Given the description of an element on the screen output the (x, y) to click on. 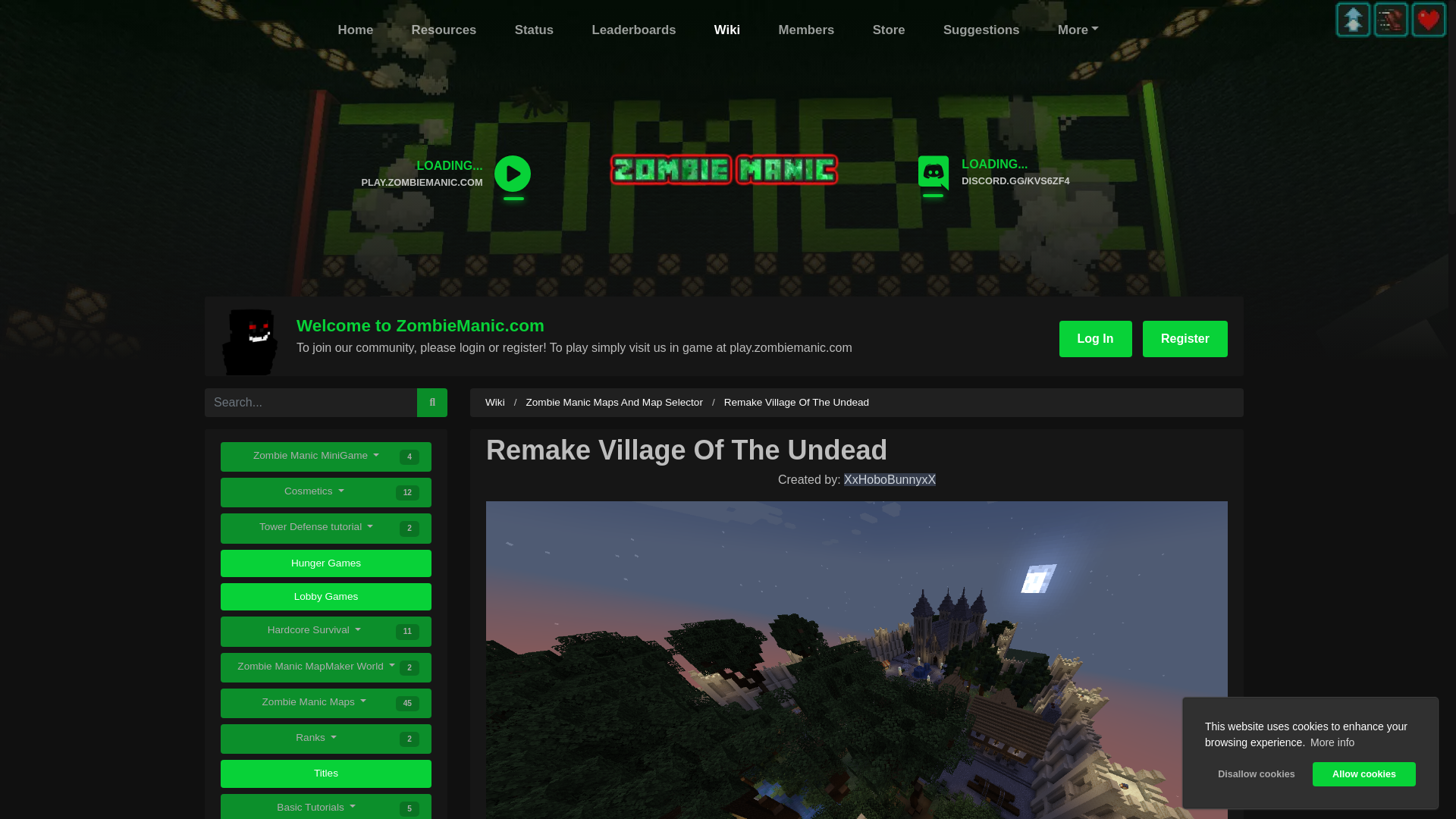
Log In (1095, 339)
4 (408, 457)
Suggestions (981, 30)
Disallow cookies (1256, 774)
Status (534, 30)
Leaderboards (633, 30)
Members (806, 30)
Store (888, 30)
More info (1331, 742)
Home (355, 30)
